Given the description of an element on the screen output the (x, y) to click on. 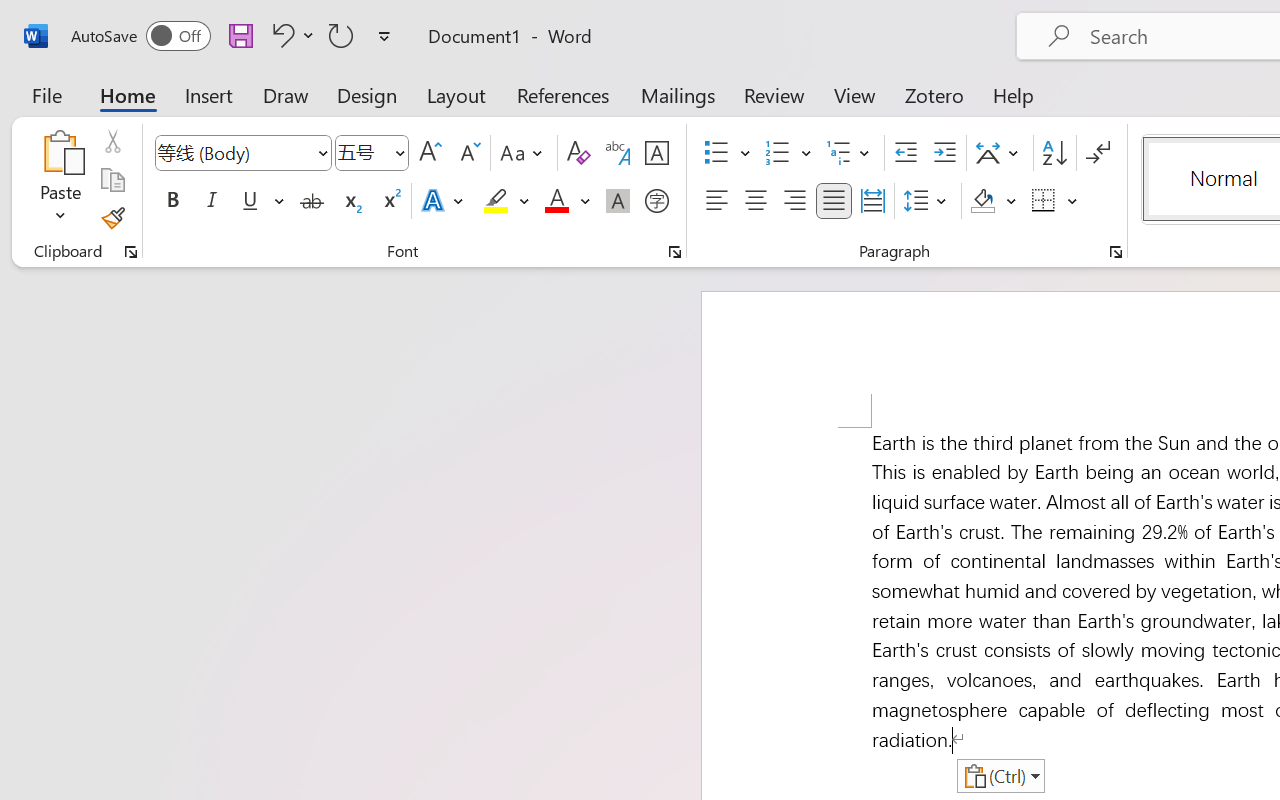
Strikethrough (312, 201)
Undo Paste Text Only (290, 35)
Text Highlight Color Yellow (495, 201)
Text Highlight Color (506, 201)
Open (399, 152)
Office Clipboard... (131, 252)
Font Color Red (556, 201)
Shrink Font (468, 153)
Format Painter (112, 218)
Grow Font (430, 153)
Multilevel List (850, 153)
Subscript (350, 201)
